Given the description of an element on the screen output the (x, y) to click on. 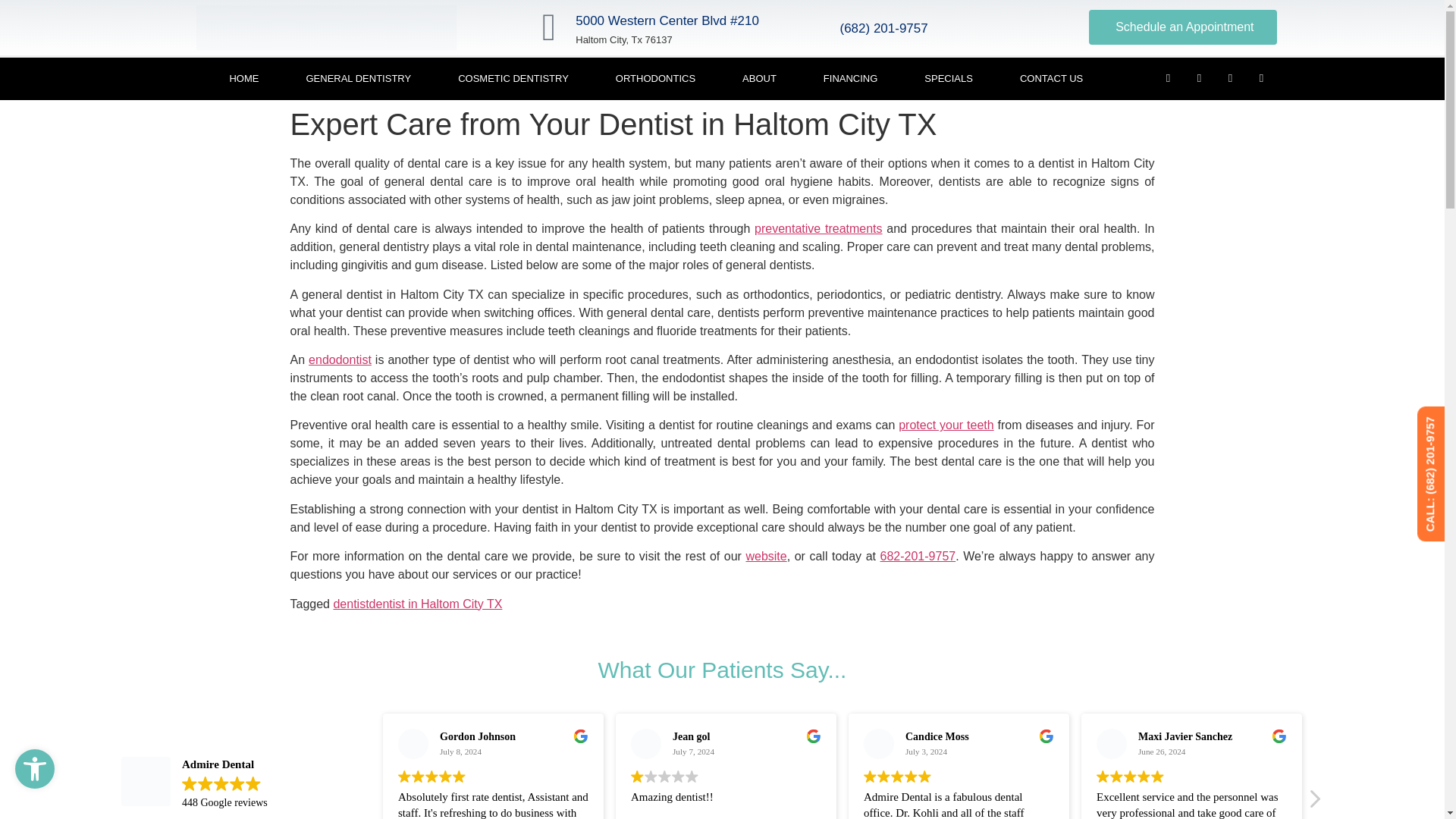
CONTACT US (1050, 78)
SPECIALS (948, 78)
Accessibility Tools (34, 768)
FINANCING (850, 78)
COSMETIC DENTISTRY (512, 78)
ORTHODONTICS (655, 78)
GENERAL DENTISTRY (357, 78)
ABOUT (759, 78)
HOME (243, 78)
Accessibility Tools (34, 768)
